Given the description of an element on the screen output the (x, y) to click on. 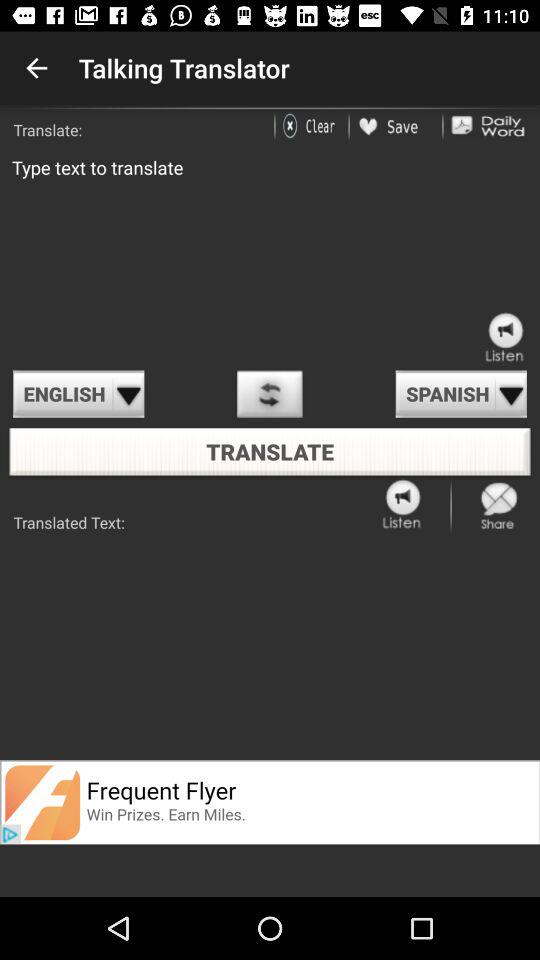
type text (269, 254)
